Given the description of an element on the screen output the (x, y) to click on. 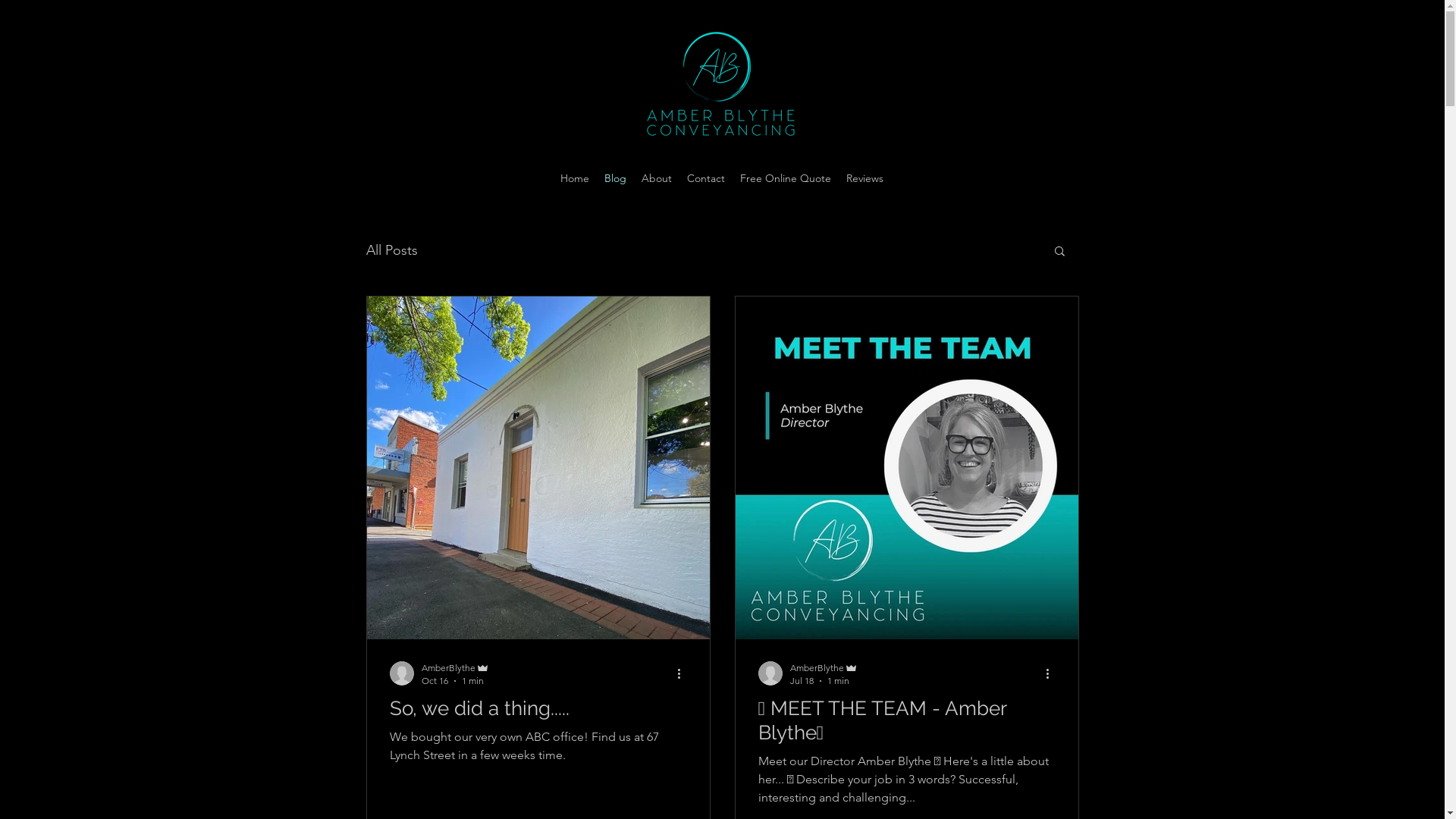
So, we did a thing..... Element type: text (538, 708)
Blog Element type: text (614, 177)
Embedded Content Element type: hover (730, 200)
All Posts Element type: text (391, 249)
Home Element type: text (574, 177)
AmberBlythe Element type: text (824, 667)
Free Online Quote Element type: text (785, 177)
AmberBlythe Element type: text (455, 667)
About Element type: text (656, 177)
Reviews Element type: text (864, 177)
Contact Element type: text (705, 177)
